Given the description of an element on the screen output the (x, y) to click on. 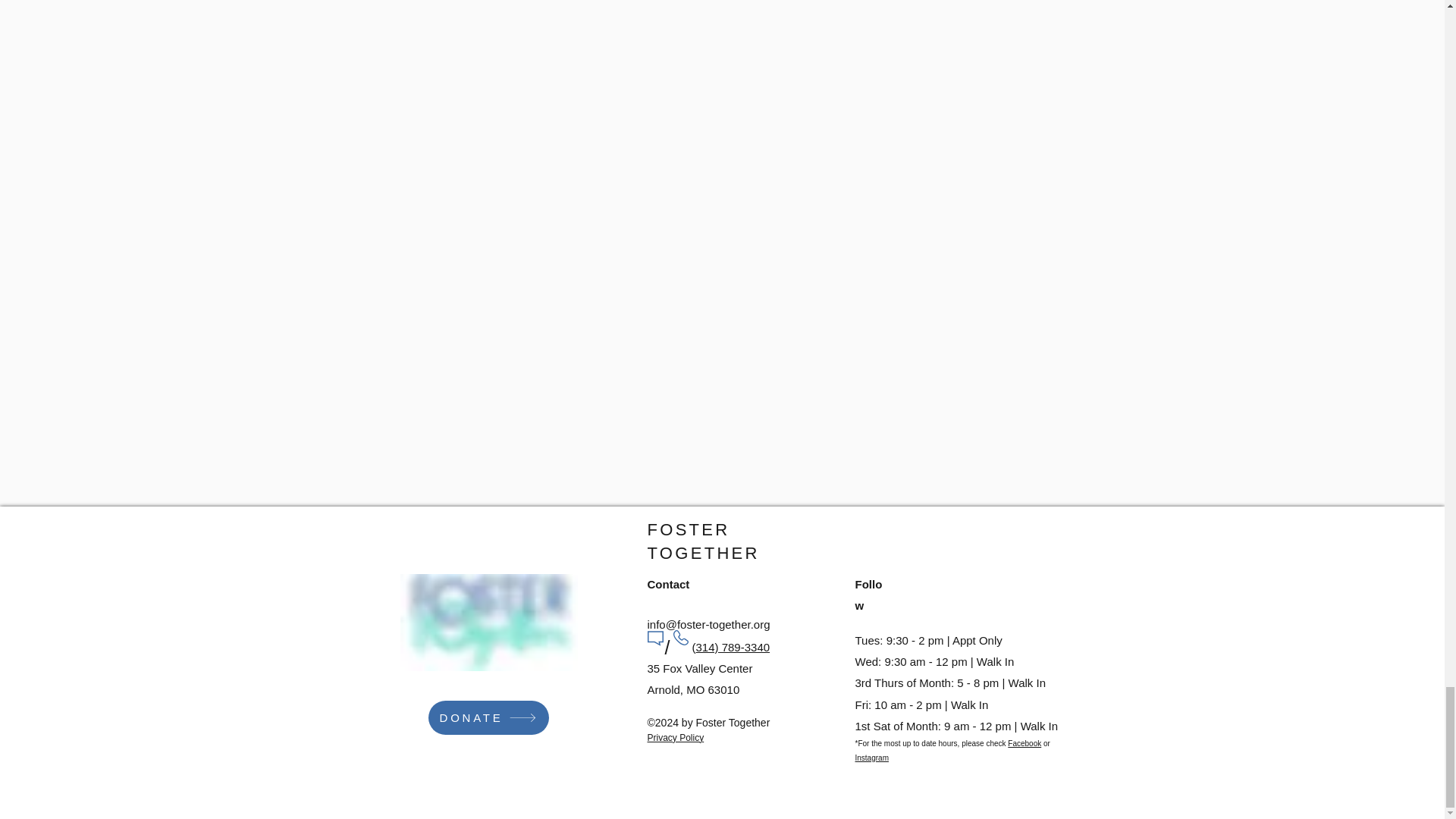
Chat with Foster Together (1116, 542)
DONATE (488, 717)
Privacy Policy (675, 737)
FOSTER TOGETHER (703, 541)
